Given the description of an element on the screen output the (x, y) to click on. 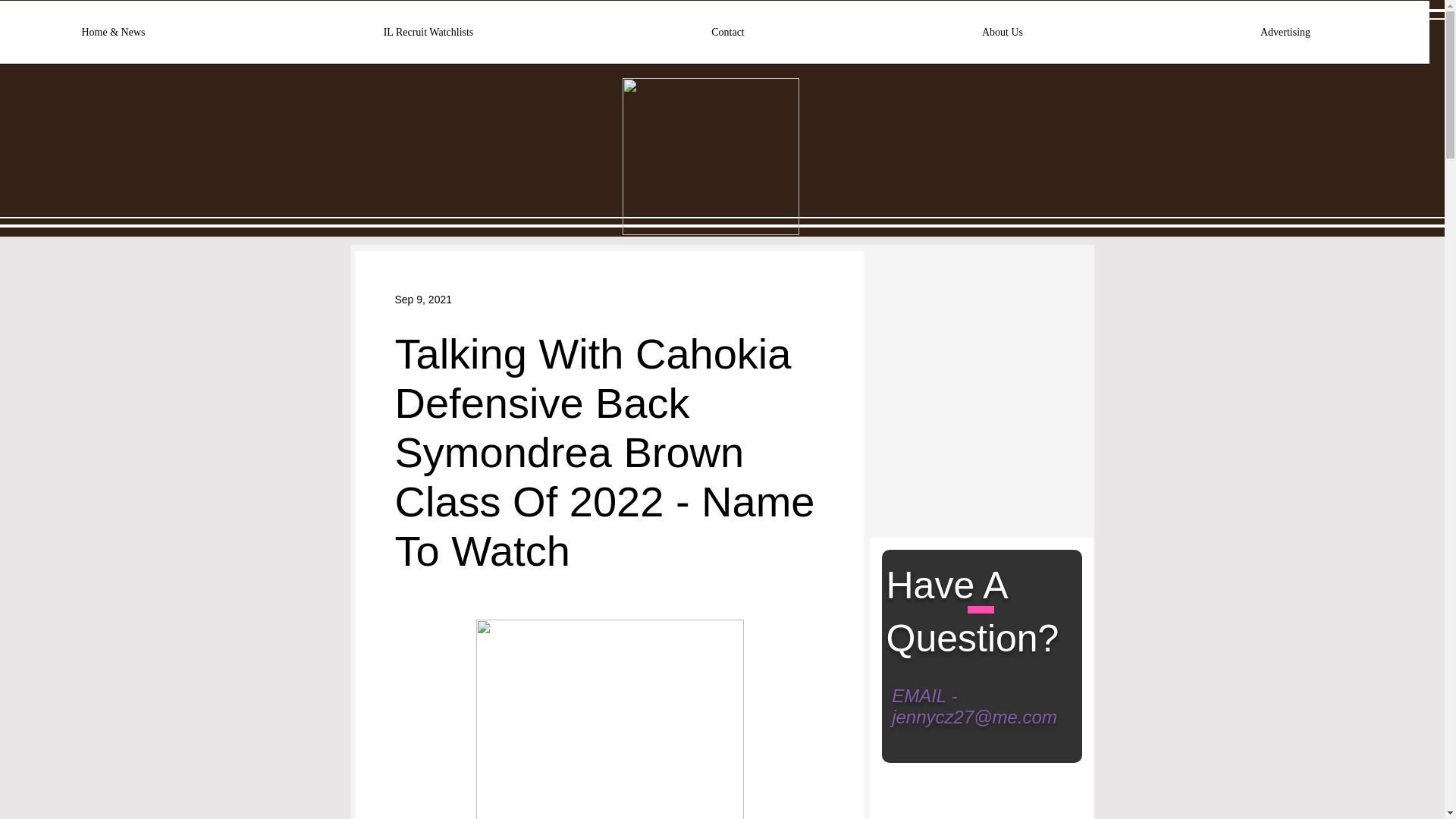
Advertising (1285, 36)
About Us (1002, 36)
Sep 9, 2021 (422, 298)
Twitter Follow (932, 289)
Contact (727, 36)
IL Recruit Watchlists (427, 36)
